Given the description of an element on the screen output the (x, y) to click on. 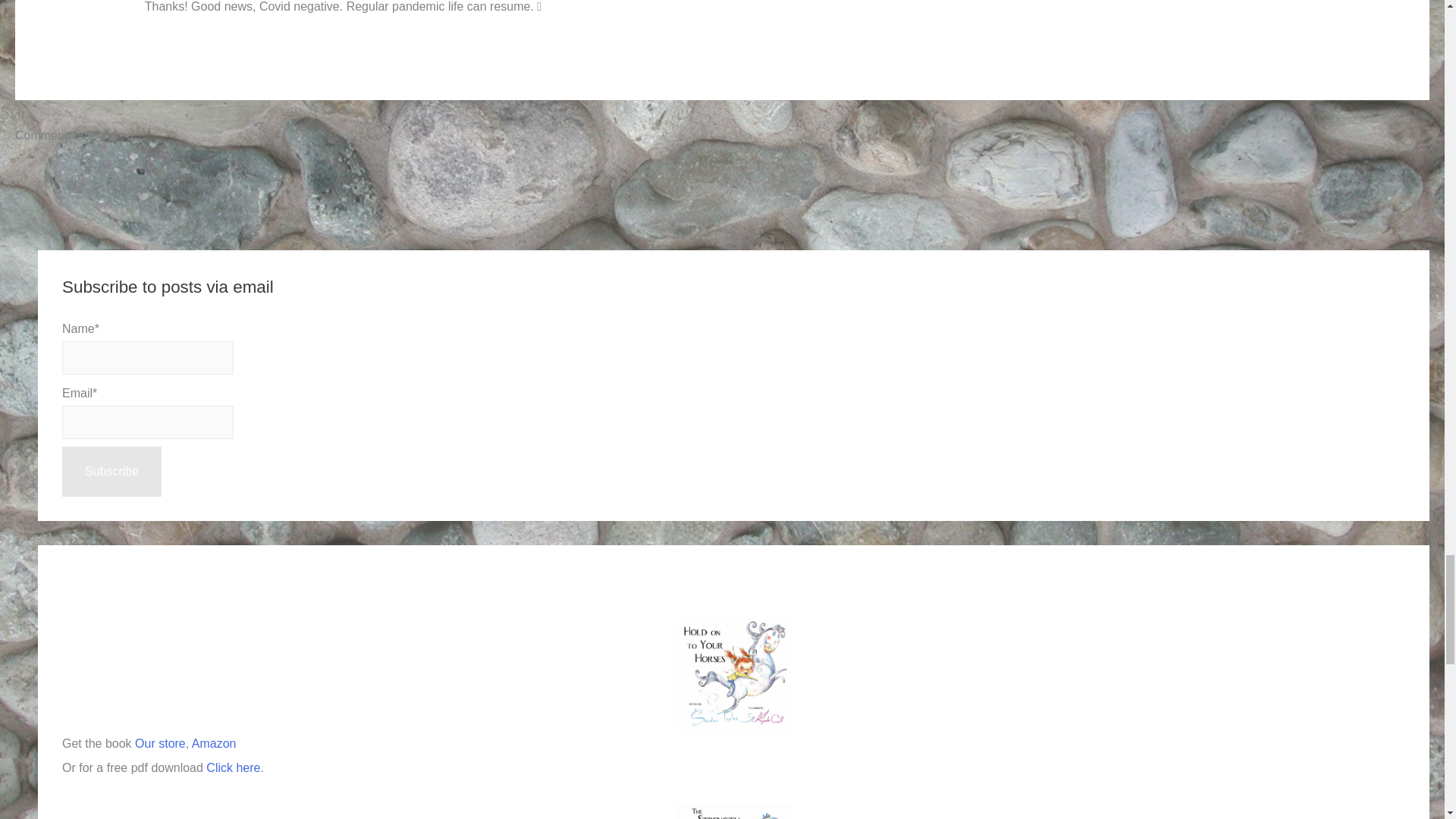
Click here (233, 767)
Front Cover web (733, 675)
Our store (160, 743)
Front Cover web (733, 811)
Subscribe (111, 471)
Subscribe (111, 471)
Amazon (213, 743)
